Given the description of an element on the screen output the (x, y) to click on. 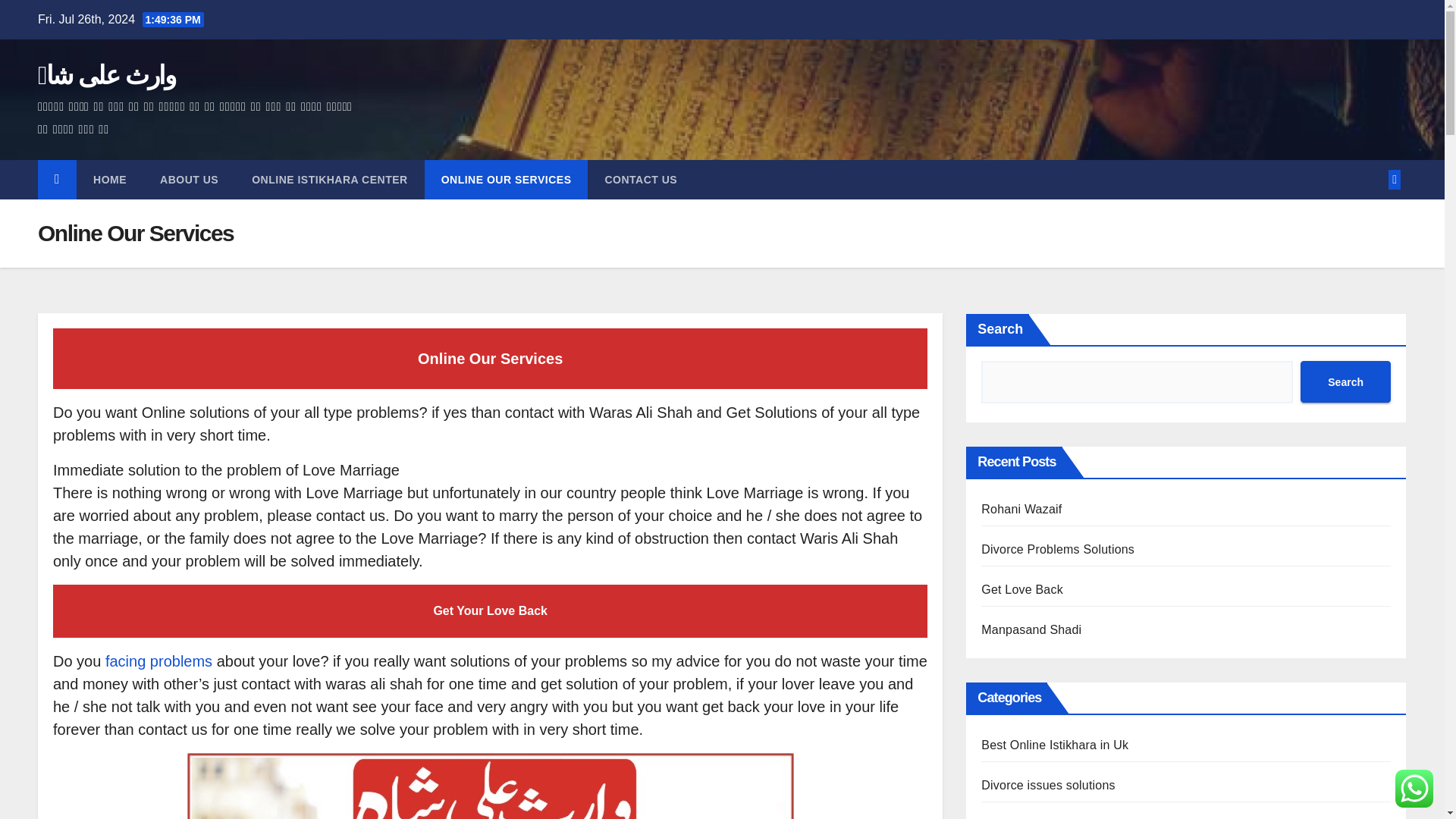
CONTACT US (641, 179)
Contact us (641, 179)
Divorce Problems Solutions (1057, 549)
Best Online Istikhara in Uk (1054, 744)
About us (188, 179)
ABOUT US (188, 179)
ONLINE ISTIKHARA CENTER (328, 179)
Divorce issues solutions (1048, 784)
Rohani Wazaif (1021, 508)
Online Our Services (506, 179)
HOME (109, 179)
Get Love Back (1021, 589)
facing problems (156, 660)
Search (1345, 381)
Home (109, 179)
